Given the description of an element on the screen output the (x, y) to click on. 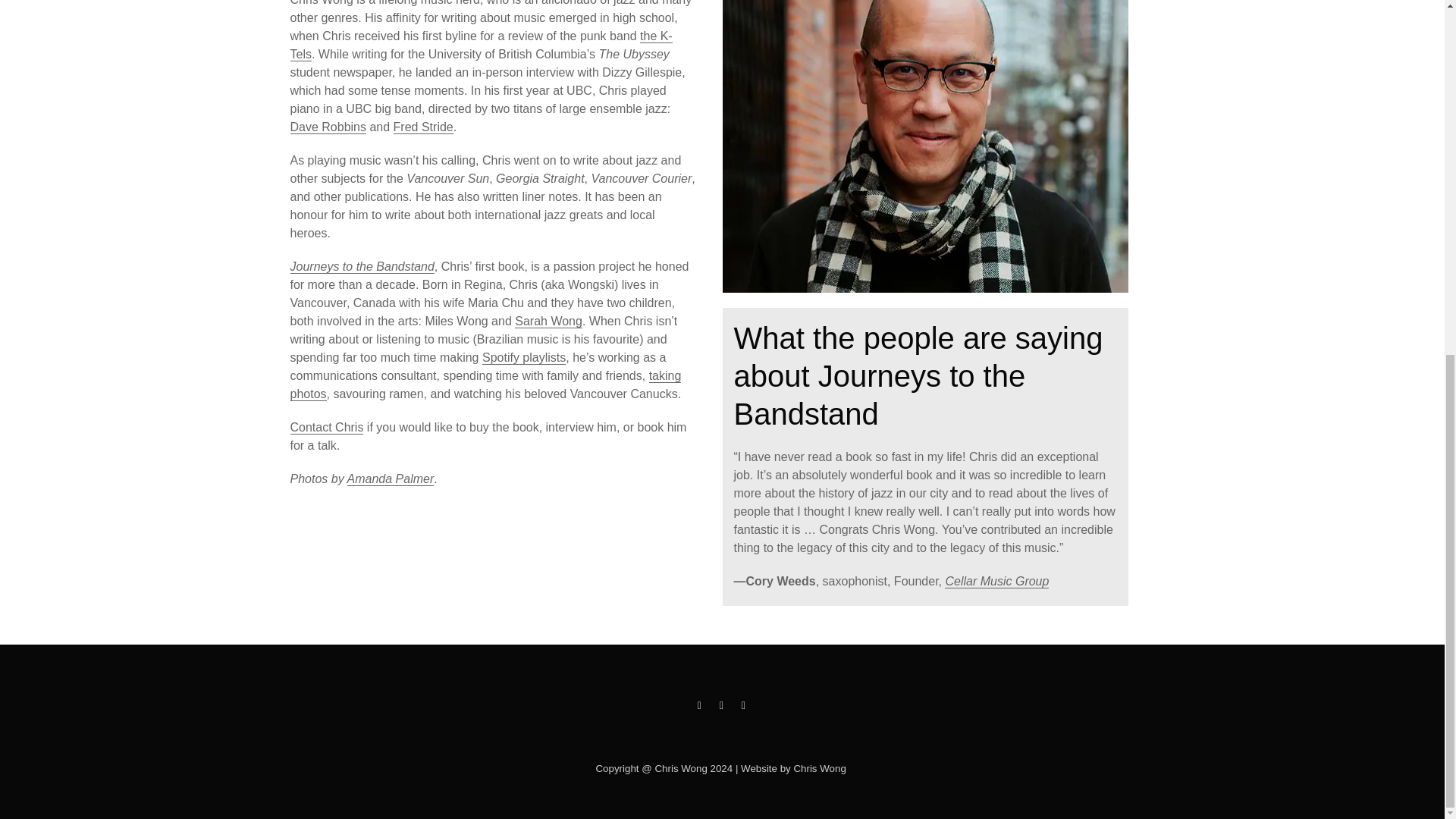
Journeys to the Bandstand (361, 266)
Sarah Wong (548, 321)
the K-Tels (480, 45)
Fred Stride (422, 127)
Cellar Music Group (996, 581)
Dave Robbins (327, 127)
Spotify playlists (523, 357)
Contact Chris (325, 427)
Amanda Palmer (390, 479)
taking photos (485, 385)
